Given the description of an element on the screen output the (x, y) to click on. 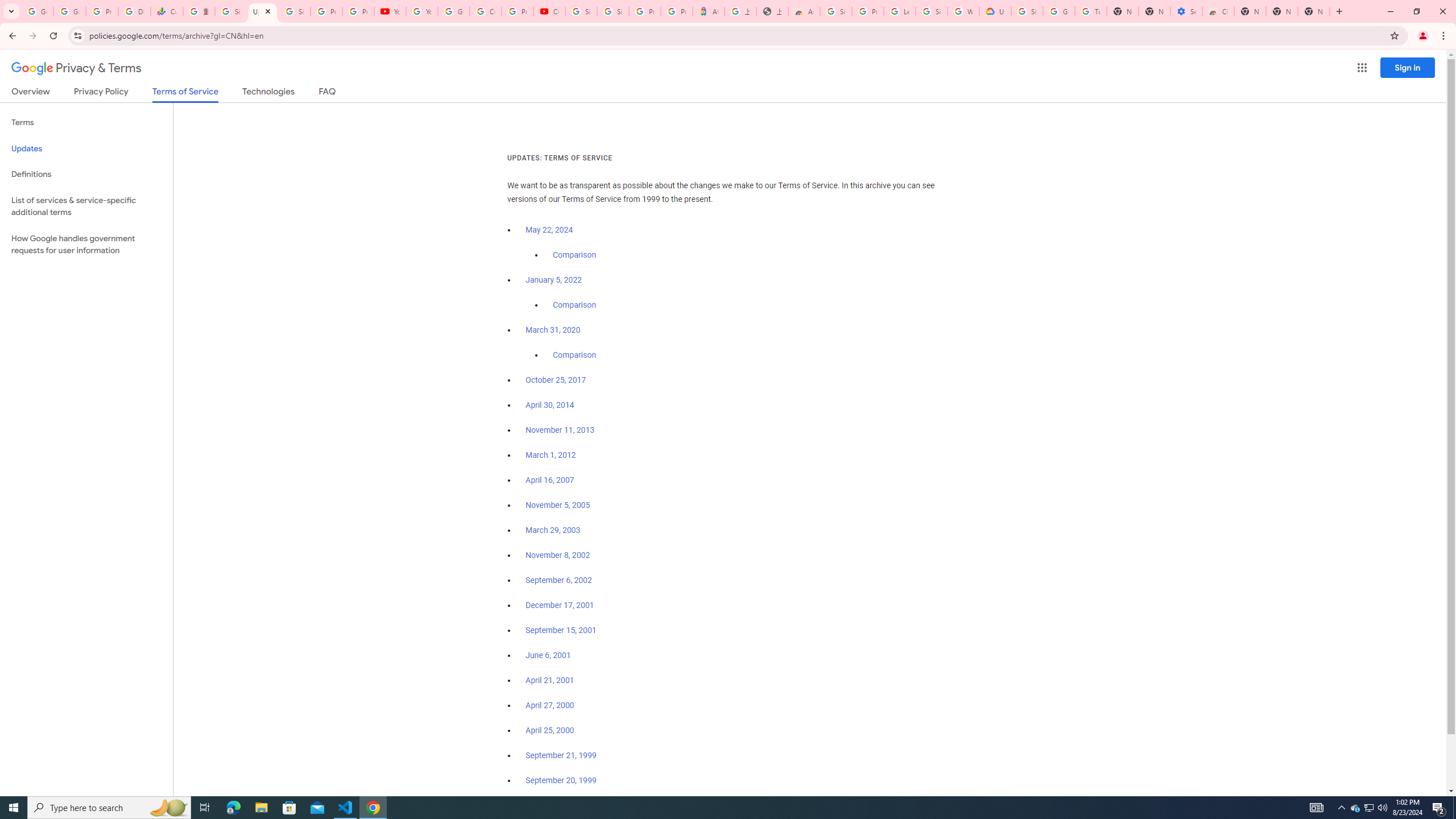
September 20, 1999 (560, 780)
April 30, 2014 (550, 405)
Comparison (574, 355)
November 8, 2002 (557, 555)
March 29, 2003 (552, 530)
New Tab (1249, 11)
Atour Hotel - Google hotels (708, 11)
Settings - Accessibility (1185, 11)
March 31, 2020 (552, 330)
